Given the description of an element on the screen output the (x, y) to click on. 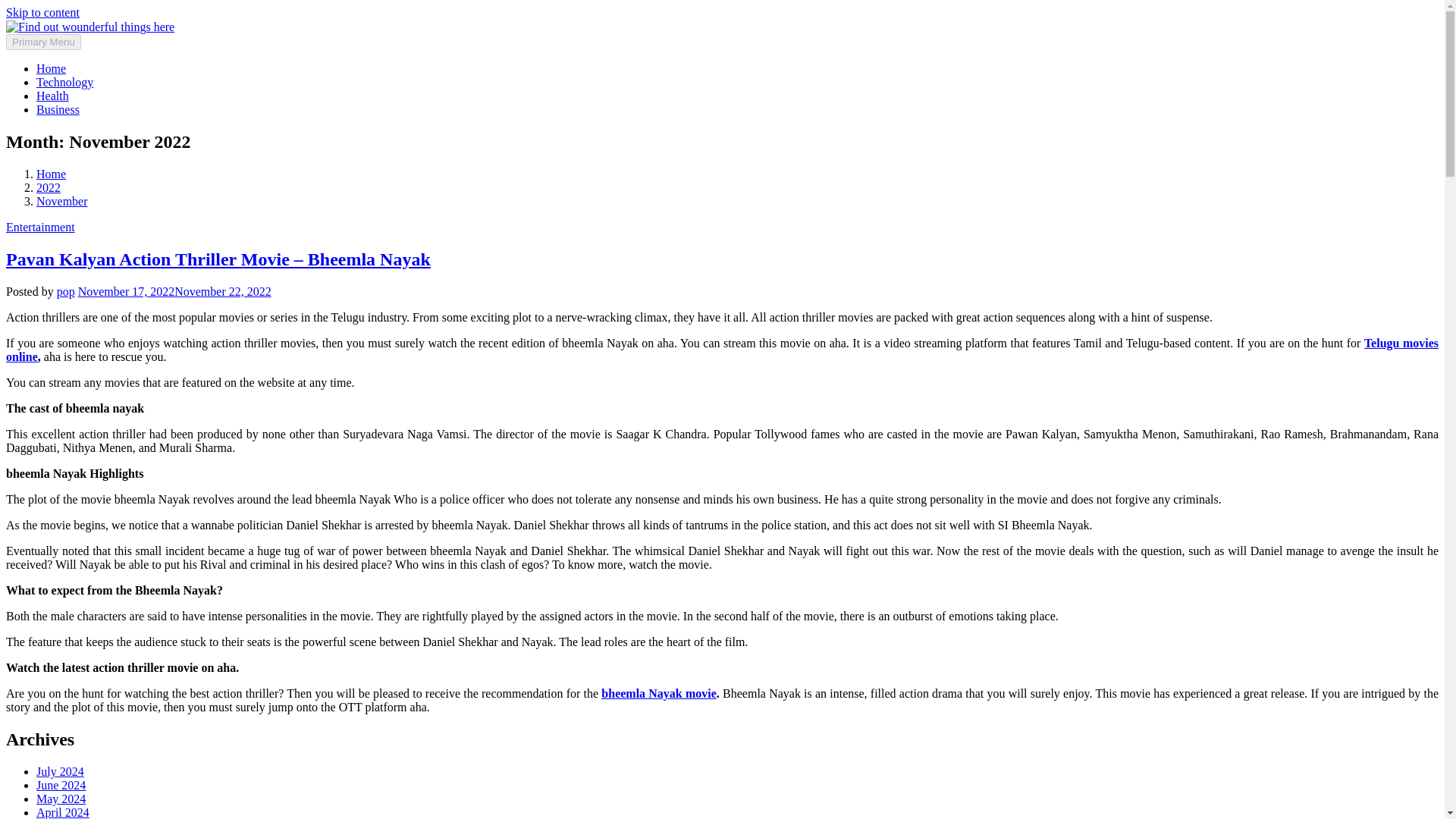
Entertainment (40, 226)
June 2024 (60, 784)
Find out wounderful things here (264, 25)
bheemla Nayak movie (658, 693)
Primary Menu (43, 41)
Business (58, 109)
April 2024 (62, 812)
November (61, 201)
Home (50, 173)
Technology (64, 82)
